Given the description of an element on the screen output the (x, y) to click on. 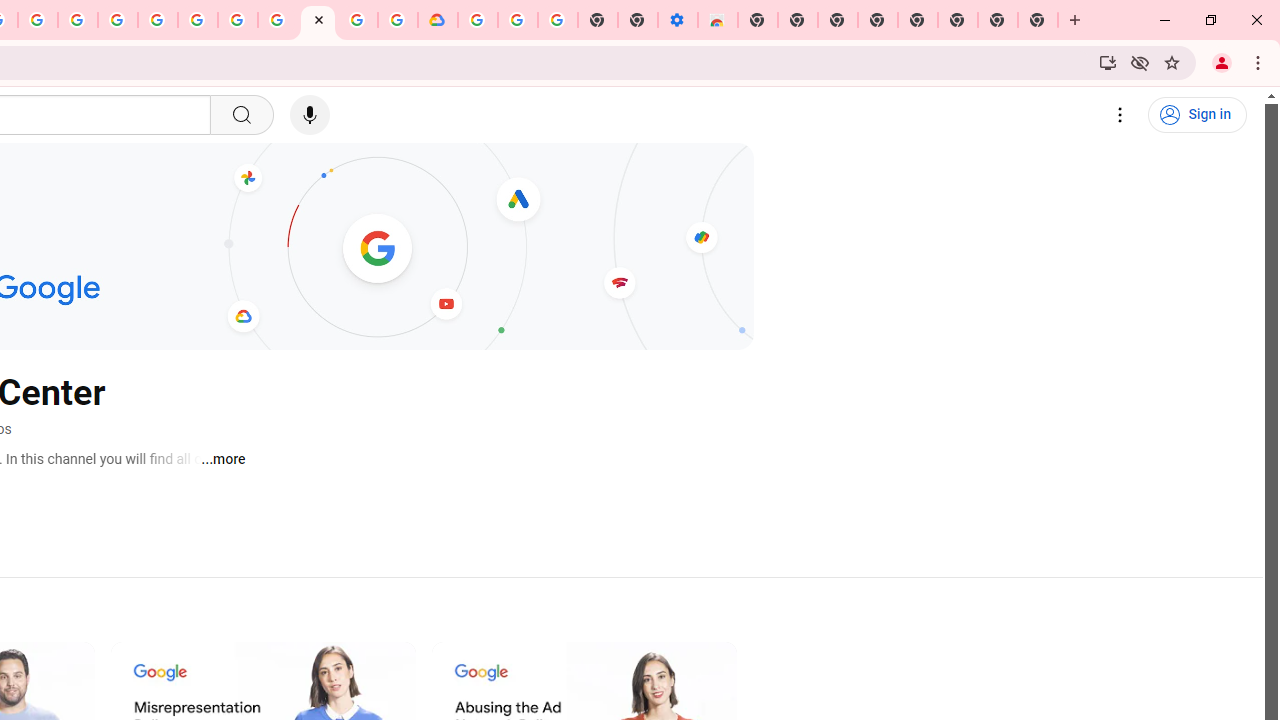
Chrome Web Store - Accessibility extensions (717, 20)
Install YouTube (1107, 62)
New Tab (758, 20)
Turn cookies on or off - Computer - Google Account Help (557, 20)
New Tab (1037, 20)
Third-party cookies blocked (1139, 62)
Google Account Help (517, 20)
Sign in - Google Accounts (157, 20)
